Given the description of an element on the screen output the (x, y) to click on. 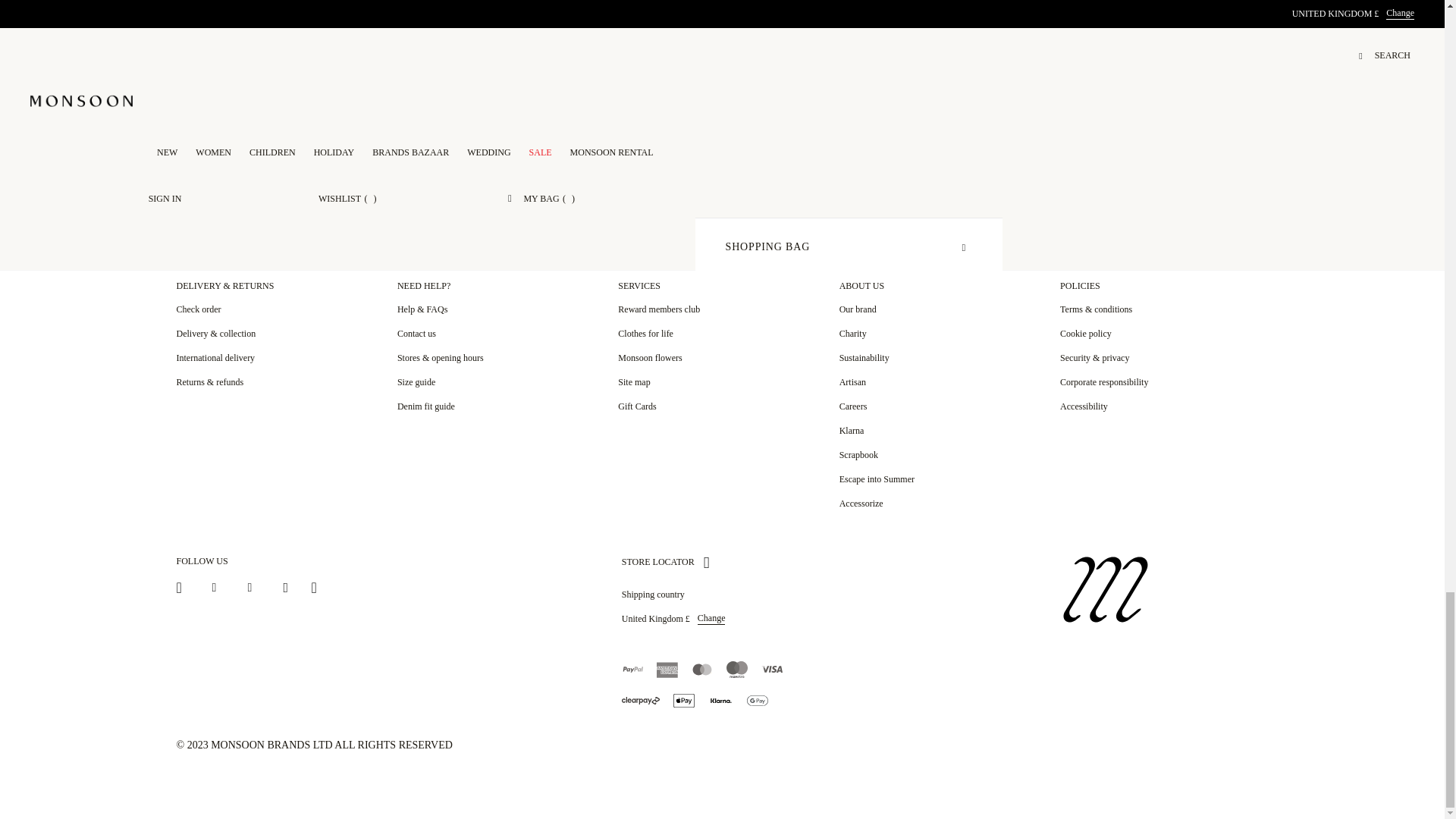
SIGN UP (952, 131)
International delivery (215, 357)
Check order (198, 309)
Contact us (416, 333)
